Given the description of an element on the screen output the (x, y) to click on. 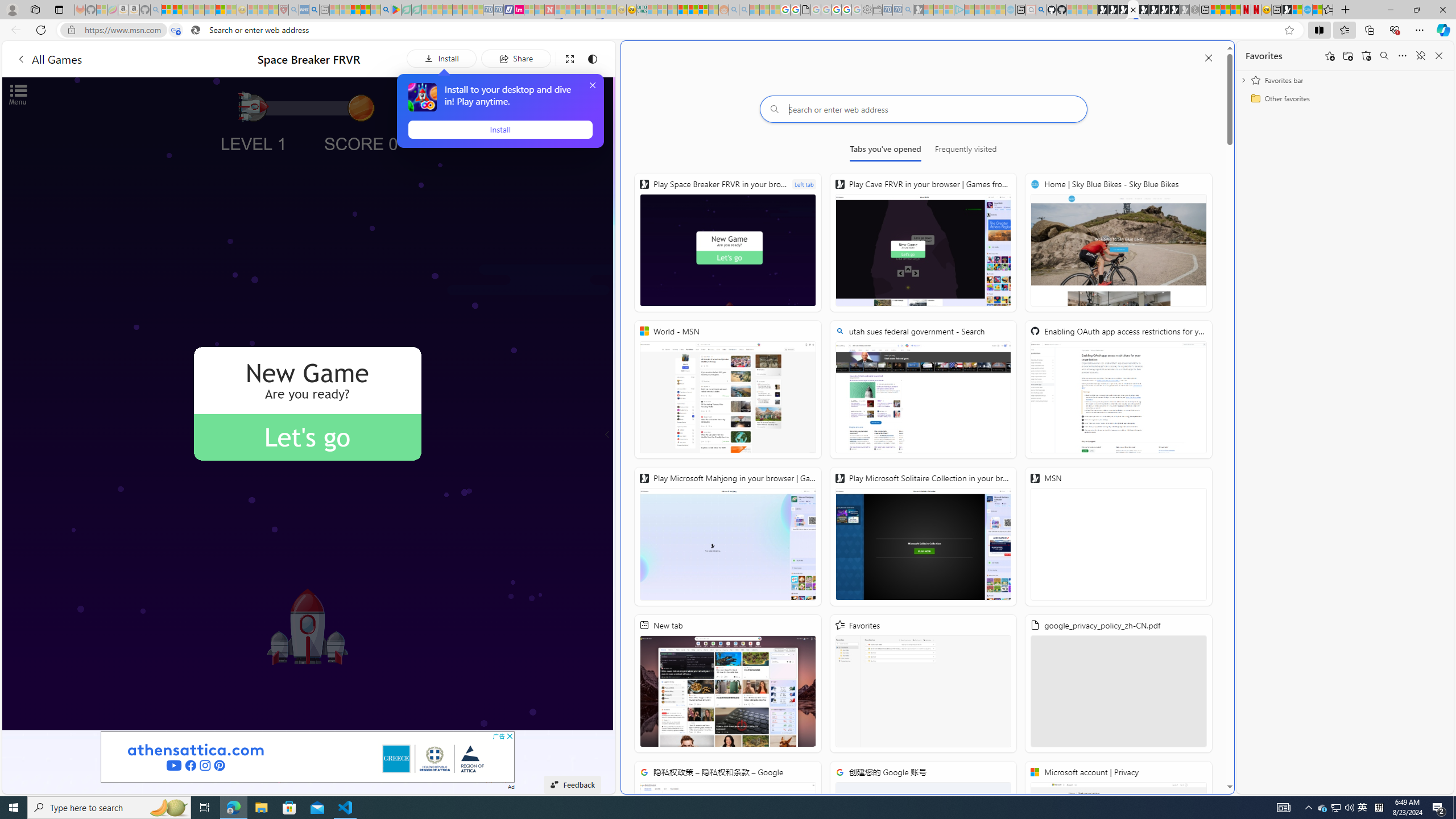
Play Cave FRVR in your browser | Games from Microsoft Start (922, 242)
Search icon (195, 29)
Settings - Sleeping (866, 9)
Jobs - lastminute.com Investor Portal (518, 9)
